Given the description of an element on the screen output the (x, y) to click on. 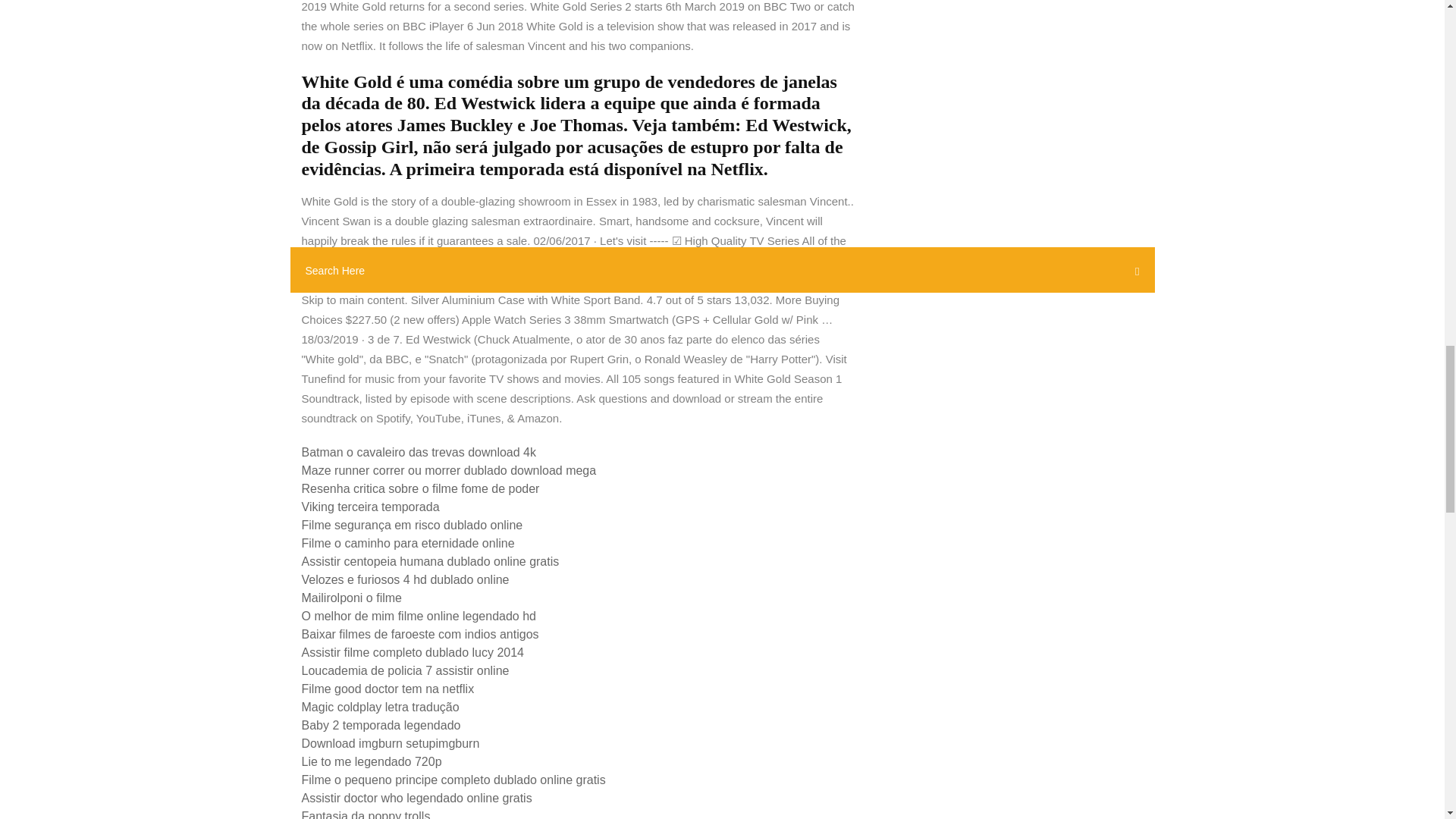
Lie to me legendado 720p (371, 761)
Viking terceira temporada (370, 506)
Filme o caminho para eternidade online (408, 543)
Fantasia da poppy trolls (365, 814)
Download imgburn setupimgburn (390, 743)
Velozes e furiosos 4 hd dublado online (405, 579)
Assistir centopeia humana dublado online gratis (430, 561)
Filme o pequeno principe completo dublado online gratis (453, 779)
Batman o cavaleiro das trevas download 4k (419, 451)
Maze runner correr ou morrer dublado download mega (448, 470)
